Given the description of an element on the screen output the (x, y) to click on. 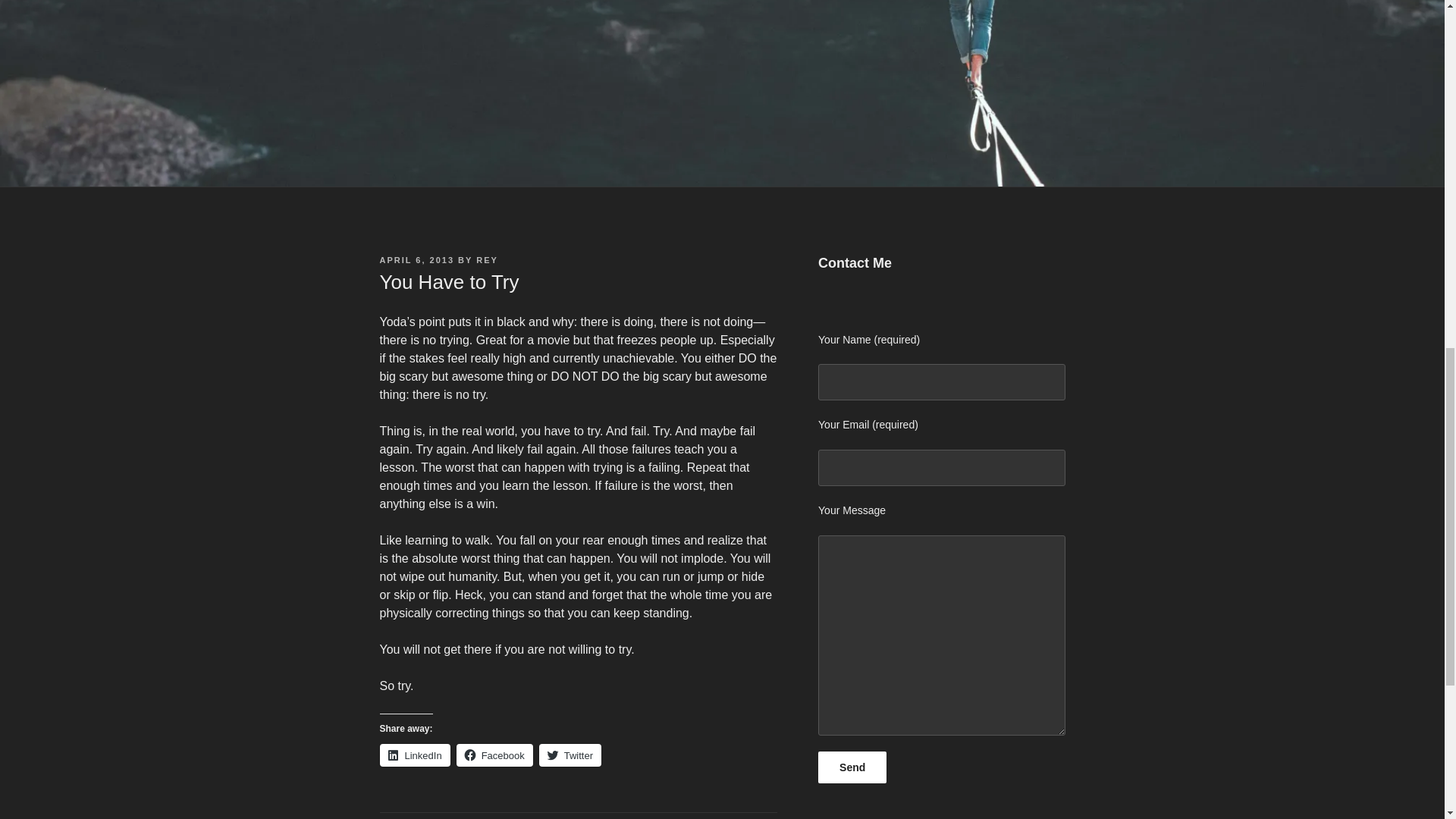
Twitter (569, 754)
APRIL 6, 2013 (416, 259)
Click to share on Facebook (494, 754)
Send (852, 766)
Send (852, 766)
Click to share on LinkedIn (413, 754)
REY (486, 259)
LinkedIn (413, 754)
Click to share on Twitter (569, 754)
Facebook (494, 754)
